Given the description of an element on the screen output the (x, y) to click on. 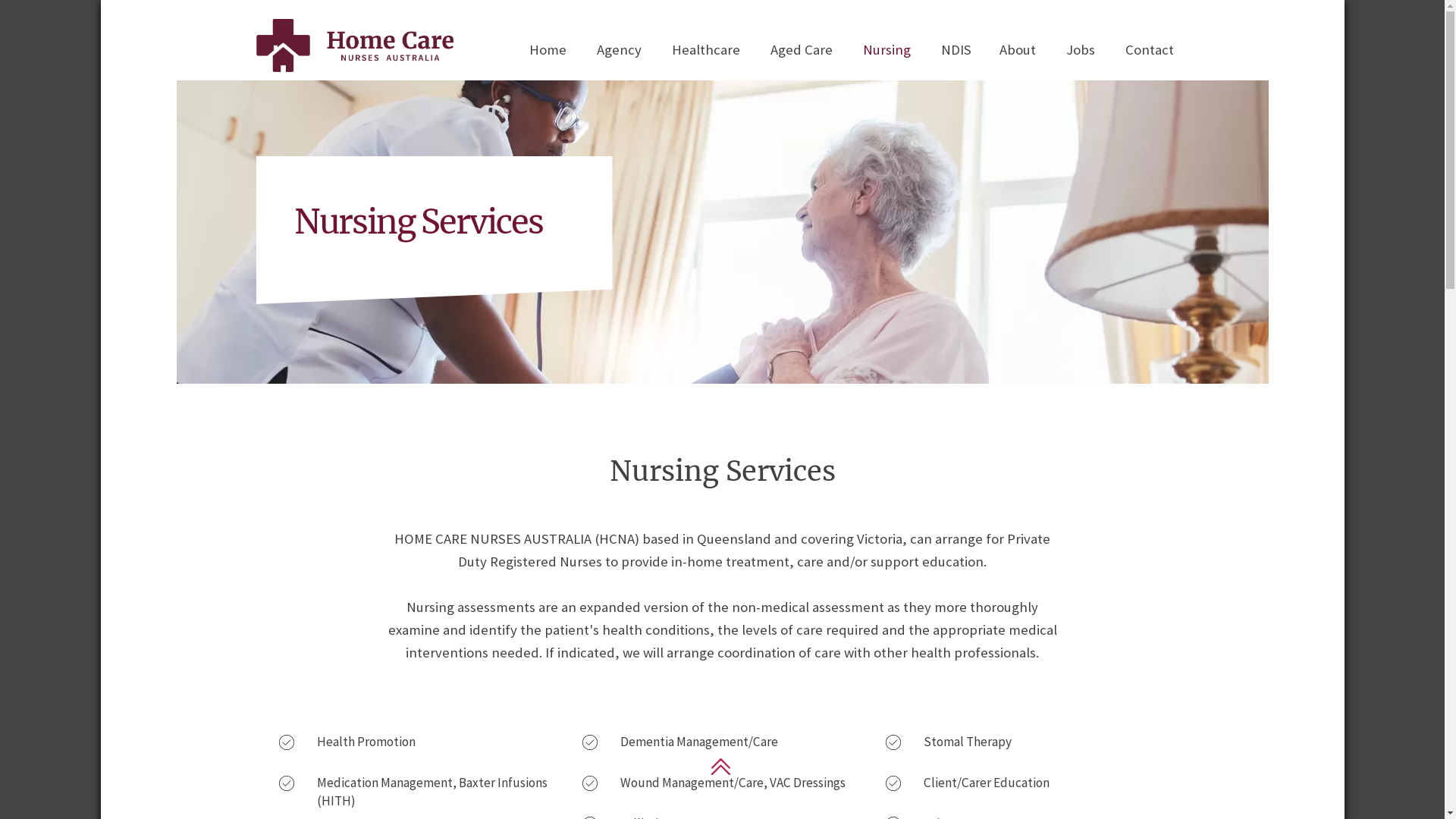
Aged Care Element type: text (801, 49)
About Element type: text (1017, 49)
Jobs Element type: text (1080, 49)
Nursing Element type: text (886, 49)
Agency Element type: text (617, 49)
Healthcare Element type: text (705, 49)
Home Element type: text (547, 49)
NDIS Element type: text (955, 49)
Contact Element type: text (1149, 49)
